Given the description of an element on the screen output the (x, y) to click on. 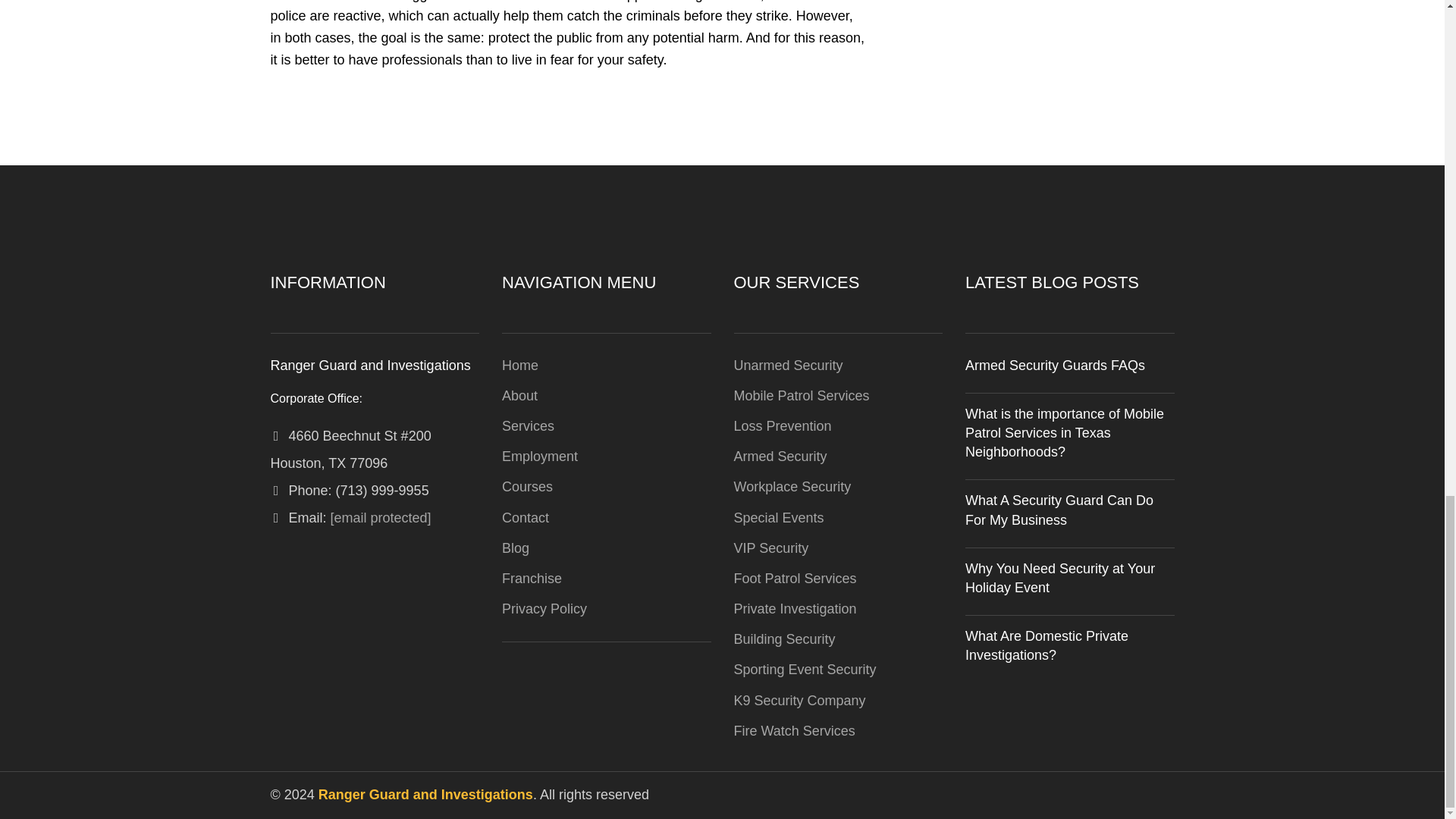
Permalink to Why You Need Security at Your Holiday Event (1059, 578)
Permalink to What A Security Guard Can Do For My Business (1059, 510)
Permalink to Armed Security Guards FAQs (1054, 365)
Permalink to What Are Domestic Private Investigations? (1046, 645)
